Given the description of an element on the screen output the (x, y) to click on. 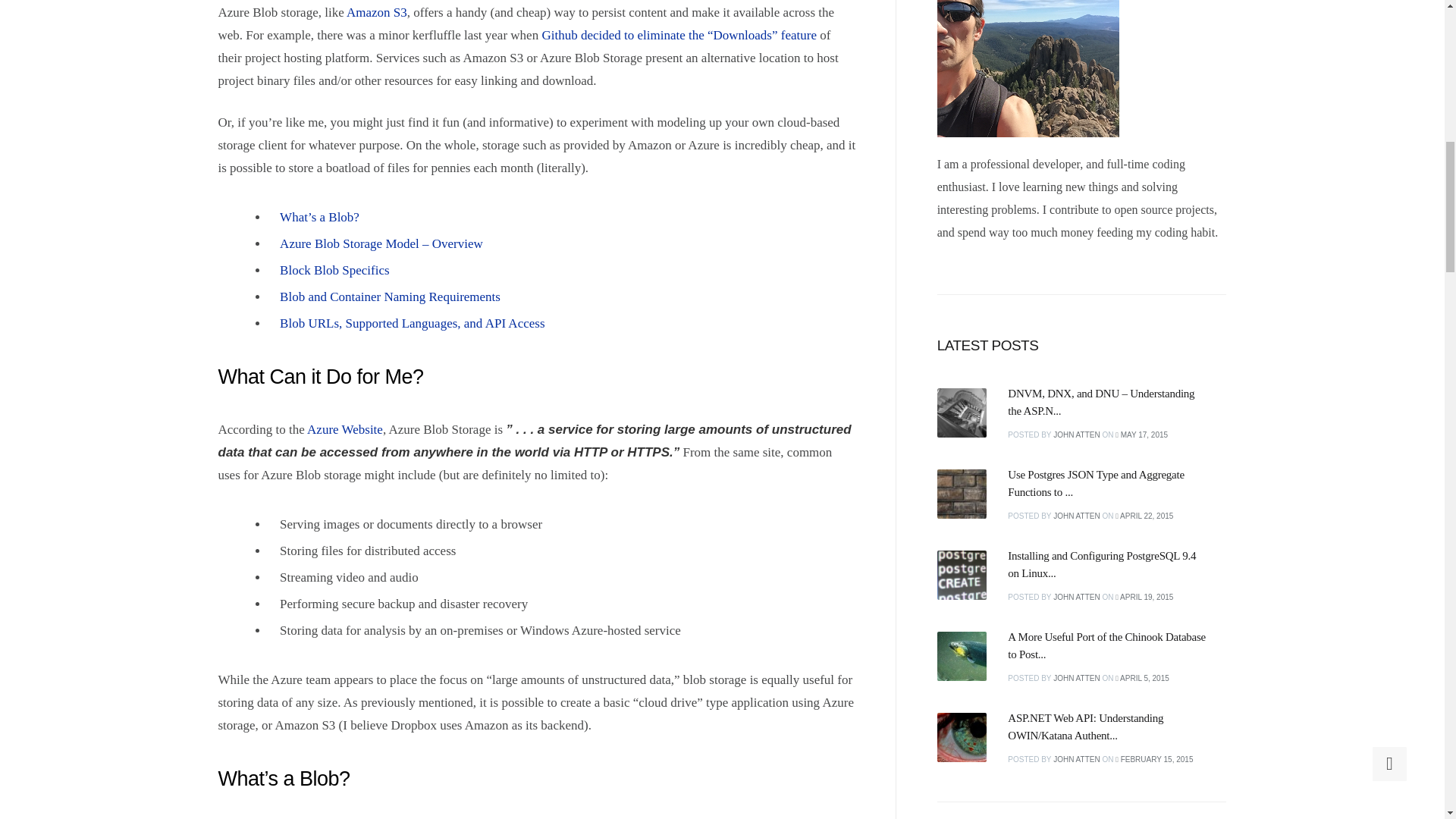
Block Blob Specifics (333, 269)
Amazon S3 (376, 11)
Blob URLs, Supported Languages, and API Access (411, 323)
Blob and Container Naming Requirements (389, 296)
Azure Website (344, 429)
